Given the description of an element on the screen output the (x, y) to click on. 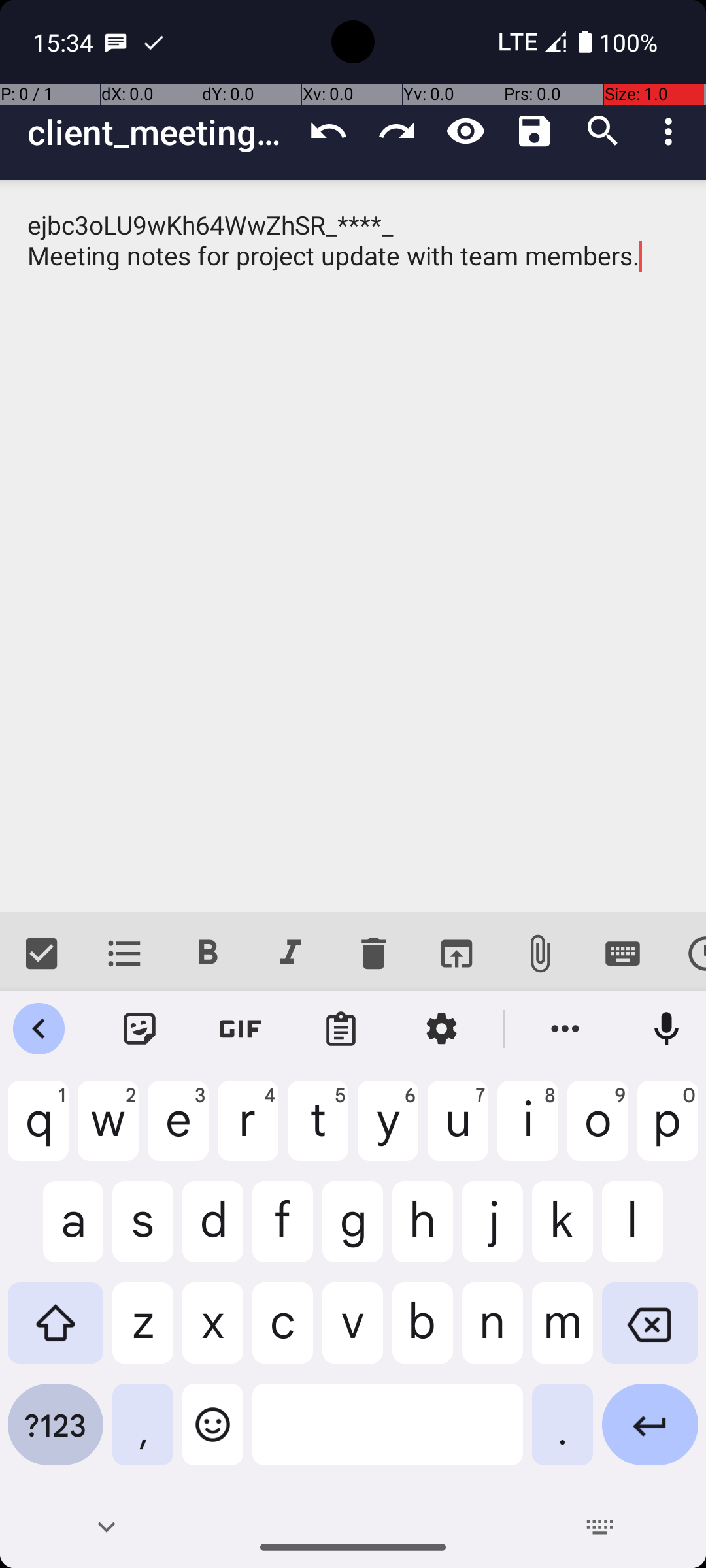
client_meetings_schedule_2023_08_13 Element type: android.widget.TextView (160, 131)
ejbc3oLU9wKh64WwZhSR_****_
Meeting notes for project update with team members.
 Element type: android.widget.EditText (353, 545)
